Given the description of an element on the screen output the (x, y) to click on. 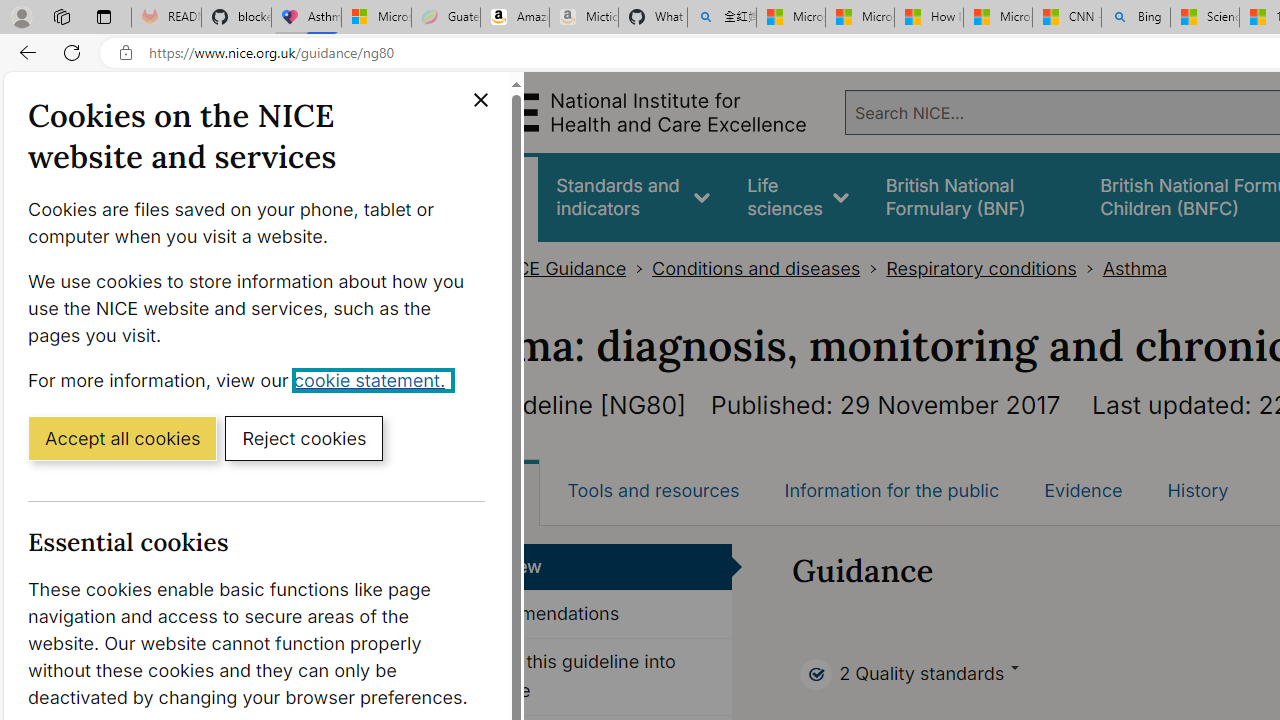
Conditions and diseases (756, 268)
Evidence (1083, 490)
Home> (459, 268)
false (974, 196)
History (1197, 490)
Asthma (1134, 268)
Recommendations (587, 615)
